Given the description of an element on the screen output the (x, y) to click on. 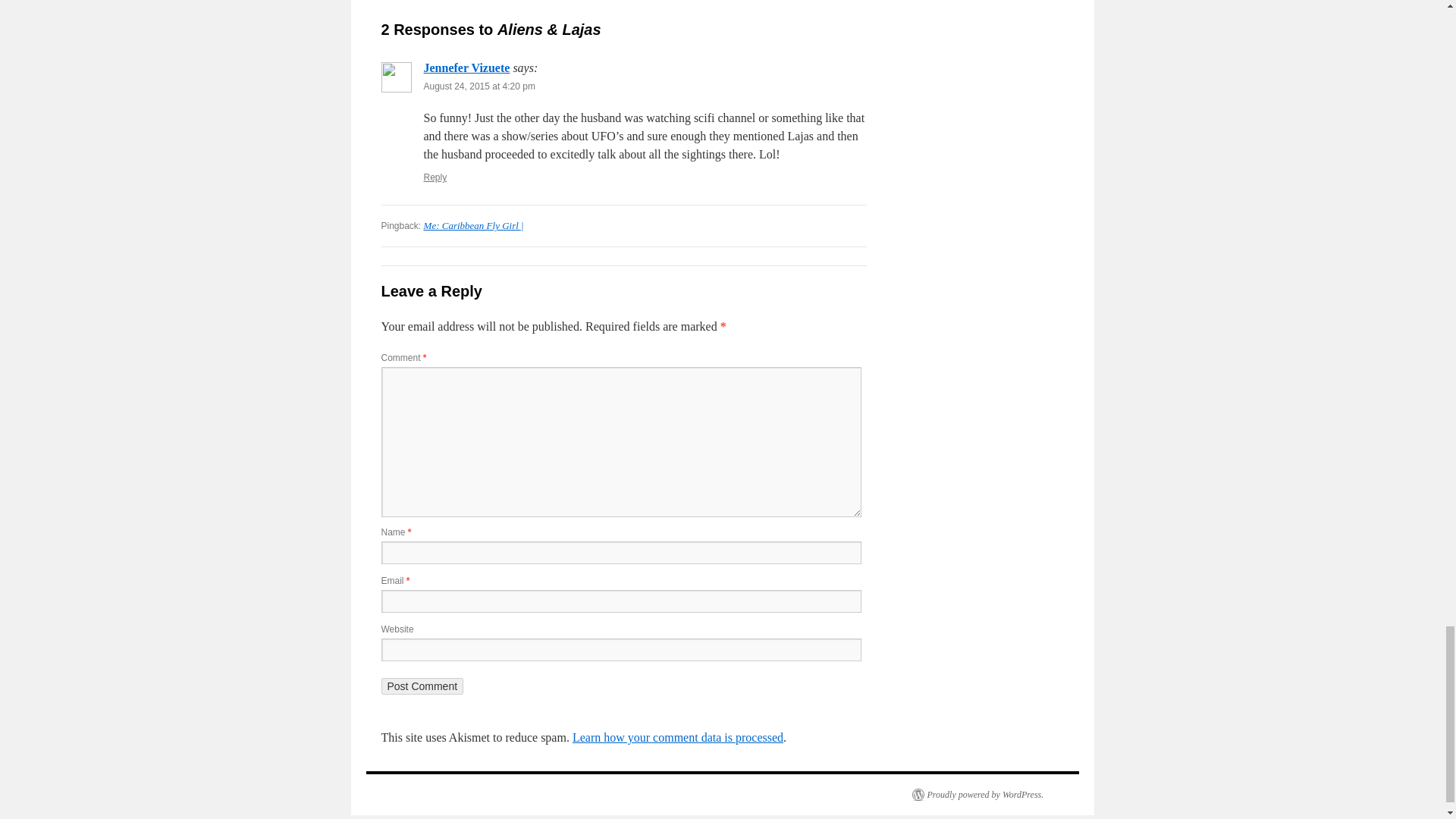
Learn how your comment data is processed (677, 737)
Post Comment (421, 686)
August 24, 2015 at 4:20 pm (478, 86)
Reply (434, 176)
Post Comment (421, 686)
Jennefer Vizuete (466, 67)
